Given the description of an element on the screen output the (x, y) to click on. 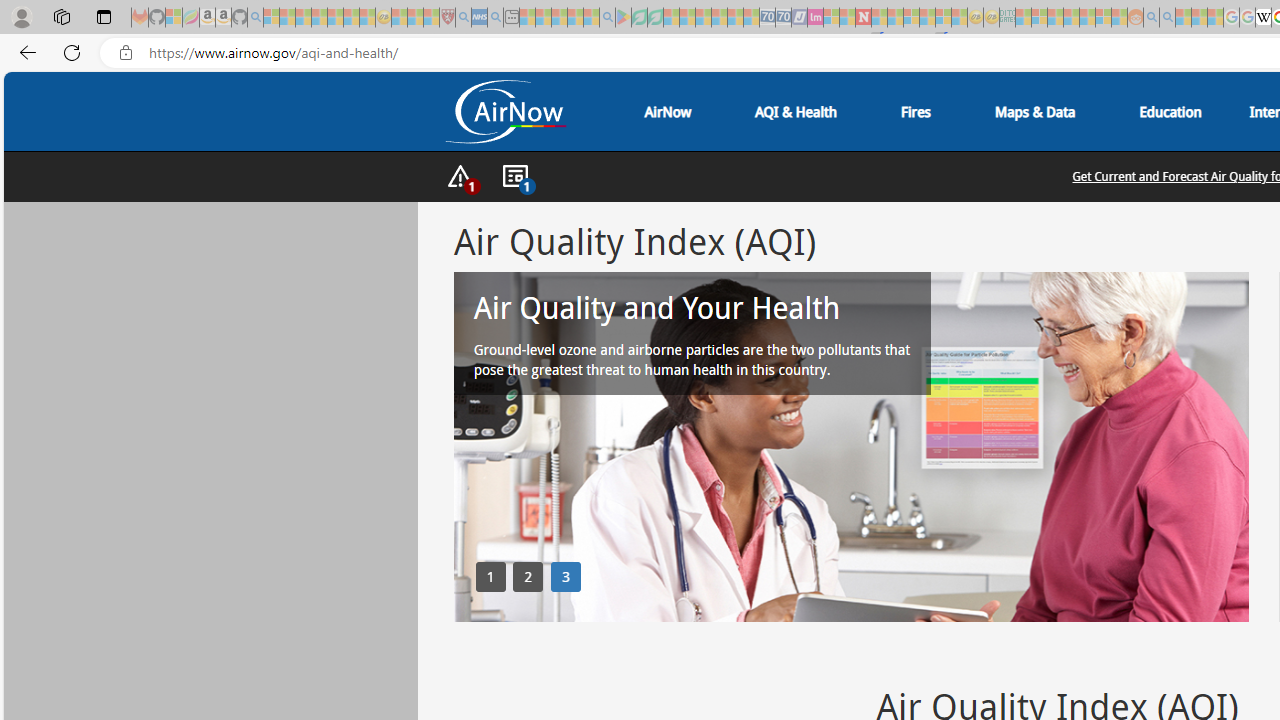
Class: main-link dropbtn-nav-link (1170, 111)
utah sues federal government - Search - Sleeping (495, 17)
2 (528, 575)
